Given the description of an element on the screen output the (x, y) to click on. 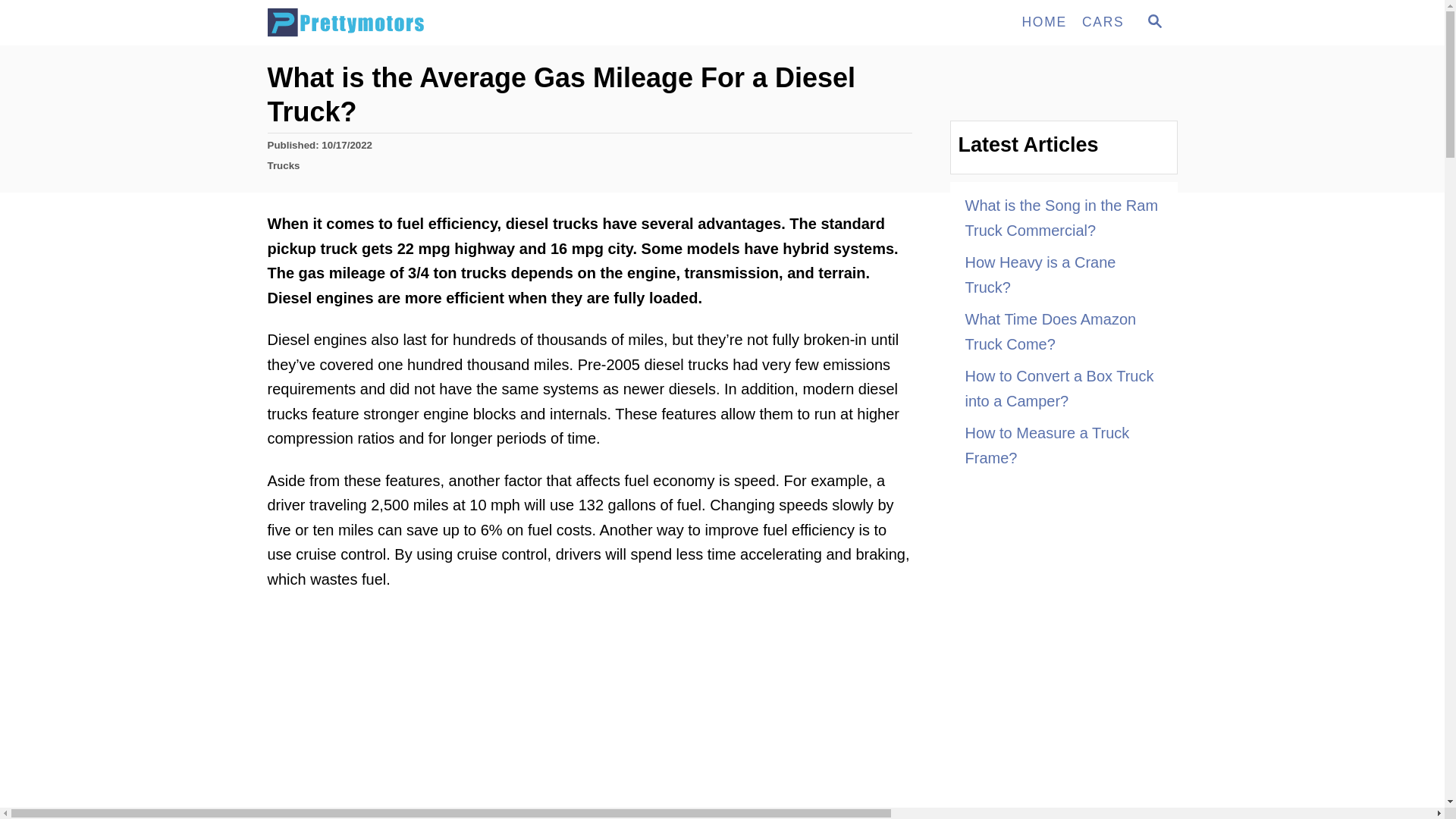
Prettymotors (403, 22)
MAGNIFYING GLASS (1153, 21)
Trucks (282, 165)
How Heavy is a Crane Truck? (1153, 22)
How to Convert a Box Truck into a Camper? (1062, 274)
What Time Does Amazon Truck Come? (1062, 388)
HOME (1062, 331)
What is the Song in the Ram Truck Commercial? (1043, 22)
CARS (1062, 217)
